Given the description of an element on the screen output the (x, y) to click on. 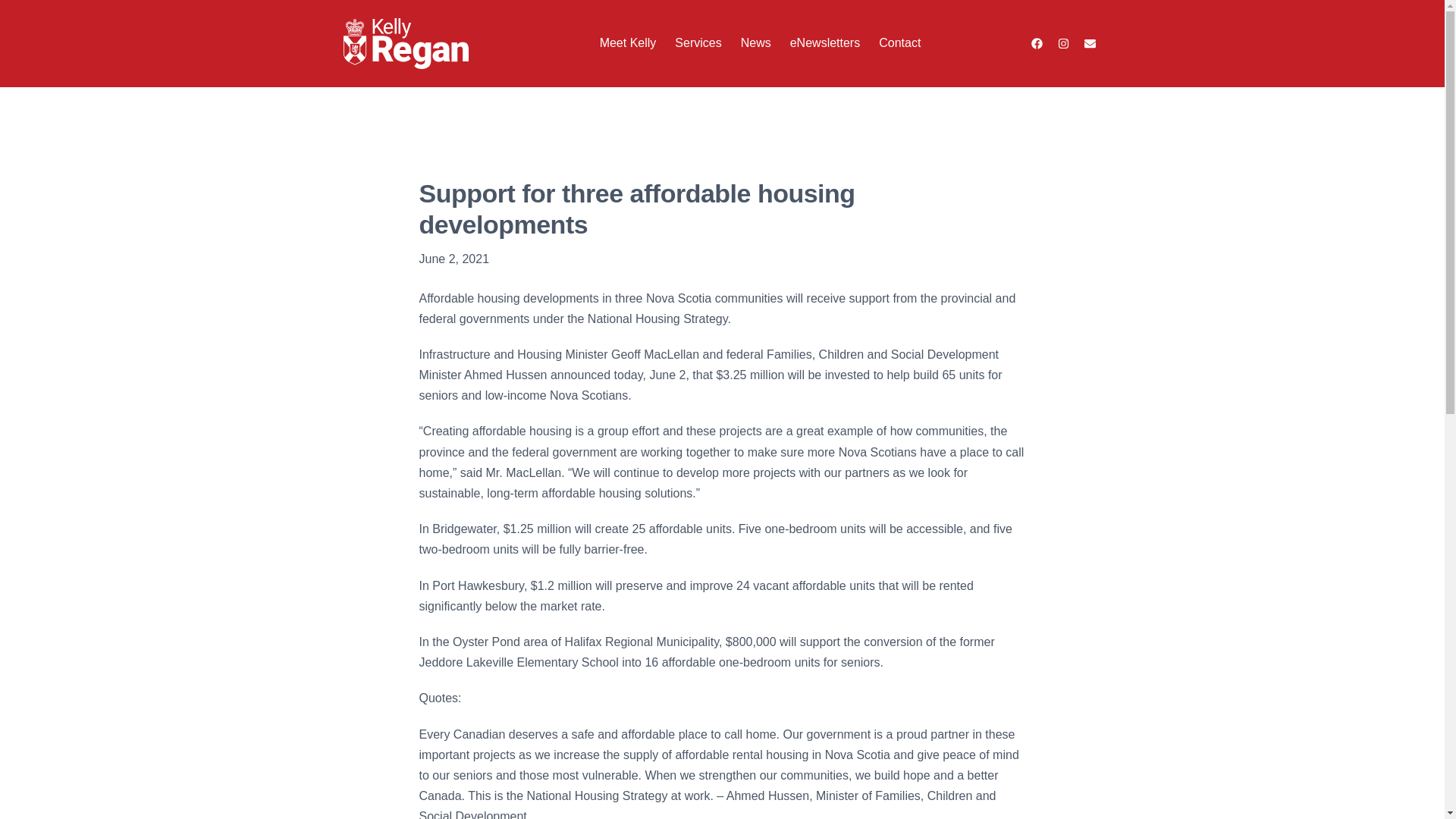
News (756, 43)
Services (697, 43)
Contact (899, 43)
eNewsletters (825, 43)
Meet Kelly (627, 43)
June 2, 2021 (454, 258)
